Given the description of an element on the screen output the (x, y) to click on. 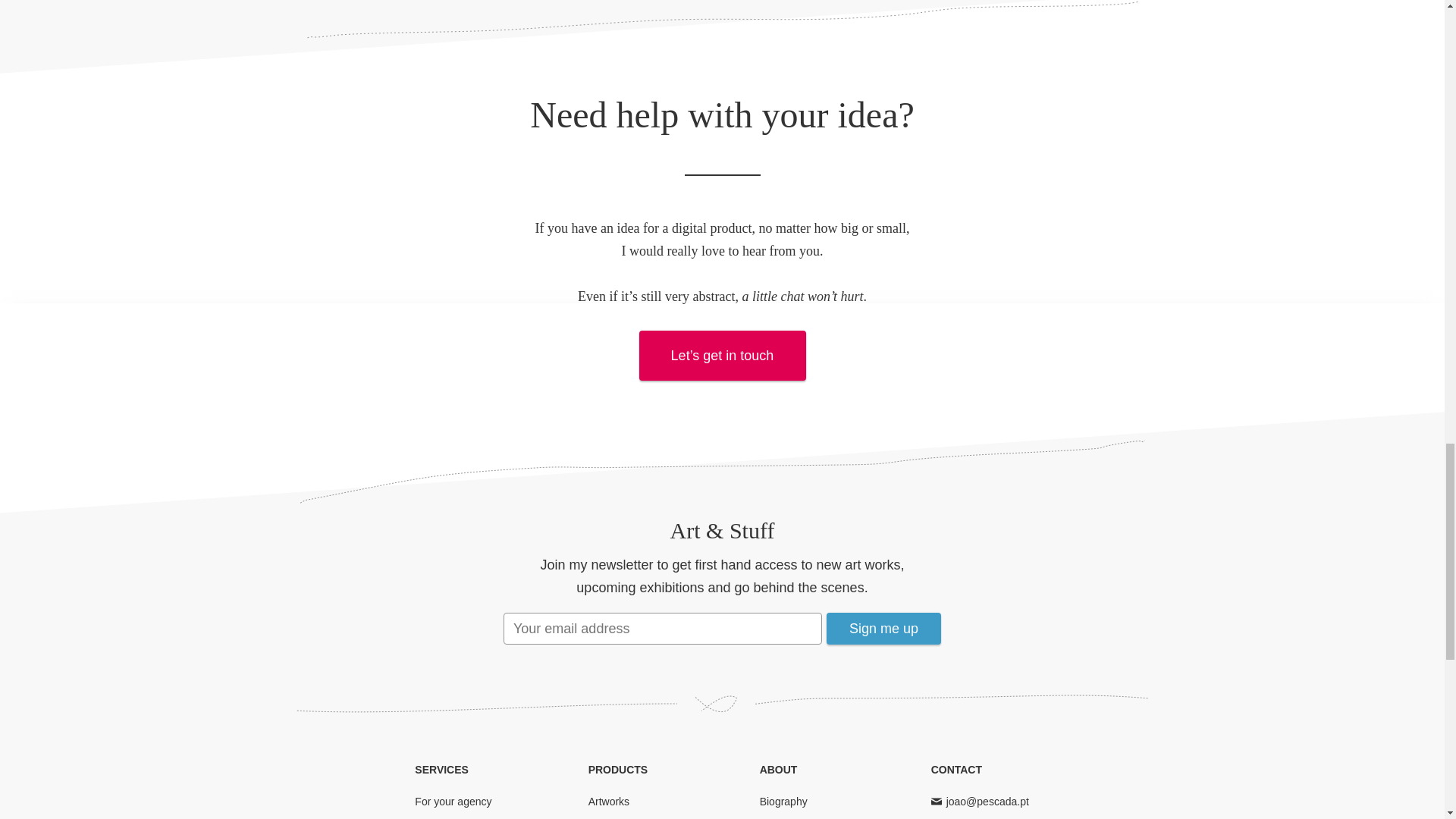
For your agency (453, 801)
SERVICES (441, 769)
PRODUCTS (617, 769)
Email (987, 801)
Sign me up (883, 628)
Artworks (608, 801)
ABOUT (778, 769)
Sign me up (883, 628)
